Given the description of an element on the screen output the (x, y) to click on. 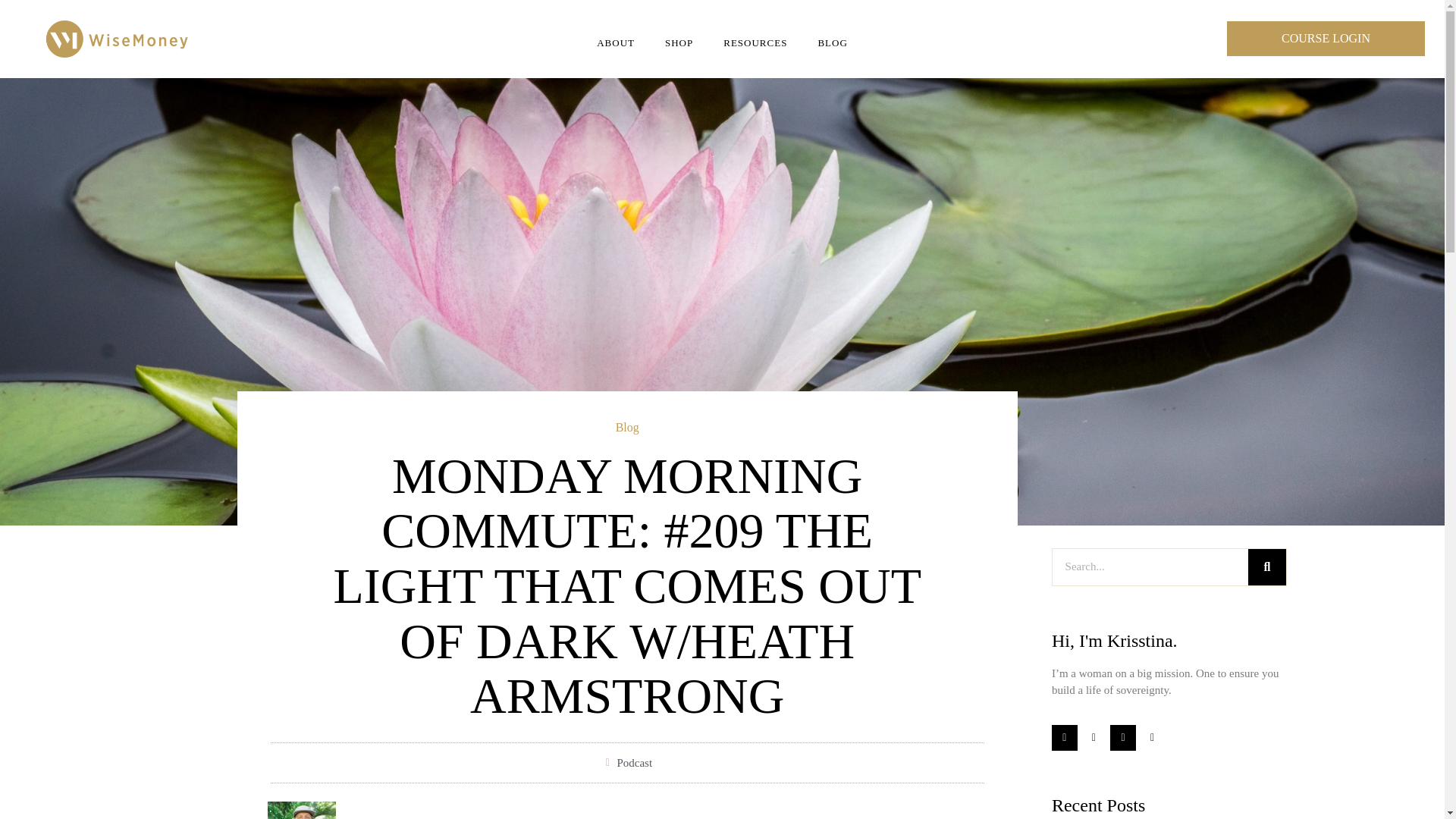
Search (1149, 566)
Podcast (633, 762)
Search (1266, 566)
COURSE LOGIN (1326, 38)
BLOG (831, 42)
SHOP (678, 42)
RESOURCES (754, 42)
ABOUT (614, 42)
